Given the description of an element on the screen output the (x, y) to click on. 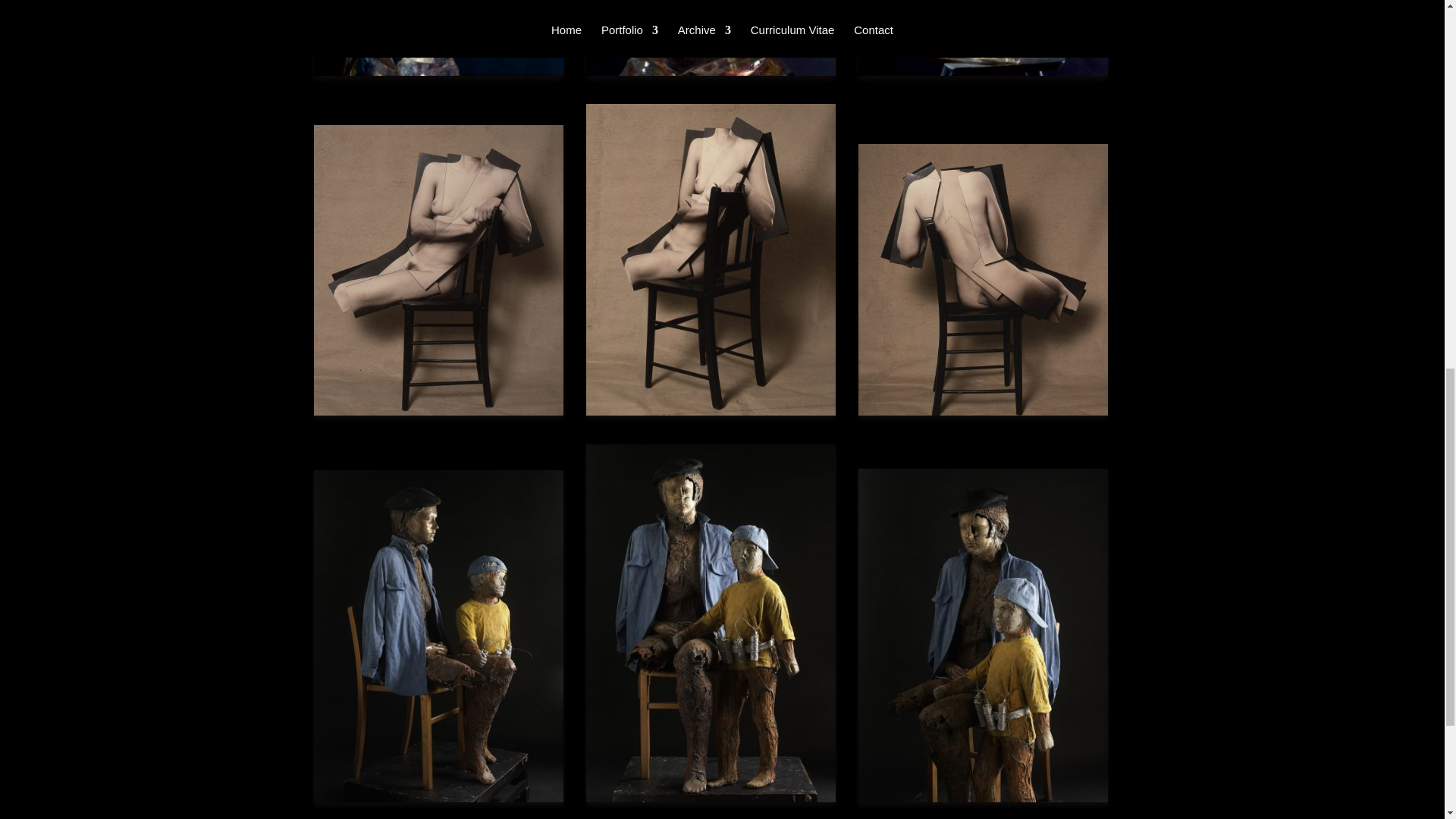
"Nothing to declair". Ft view (710, 38)
"Nothing to declair." Side view (438, 38)
"Nothing to declair". Ft view (710, 38)
"Nothing to declair." Side view (438, 37)
